Given the description of an element on the screen output the (x, y) to click on. 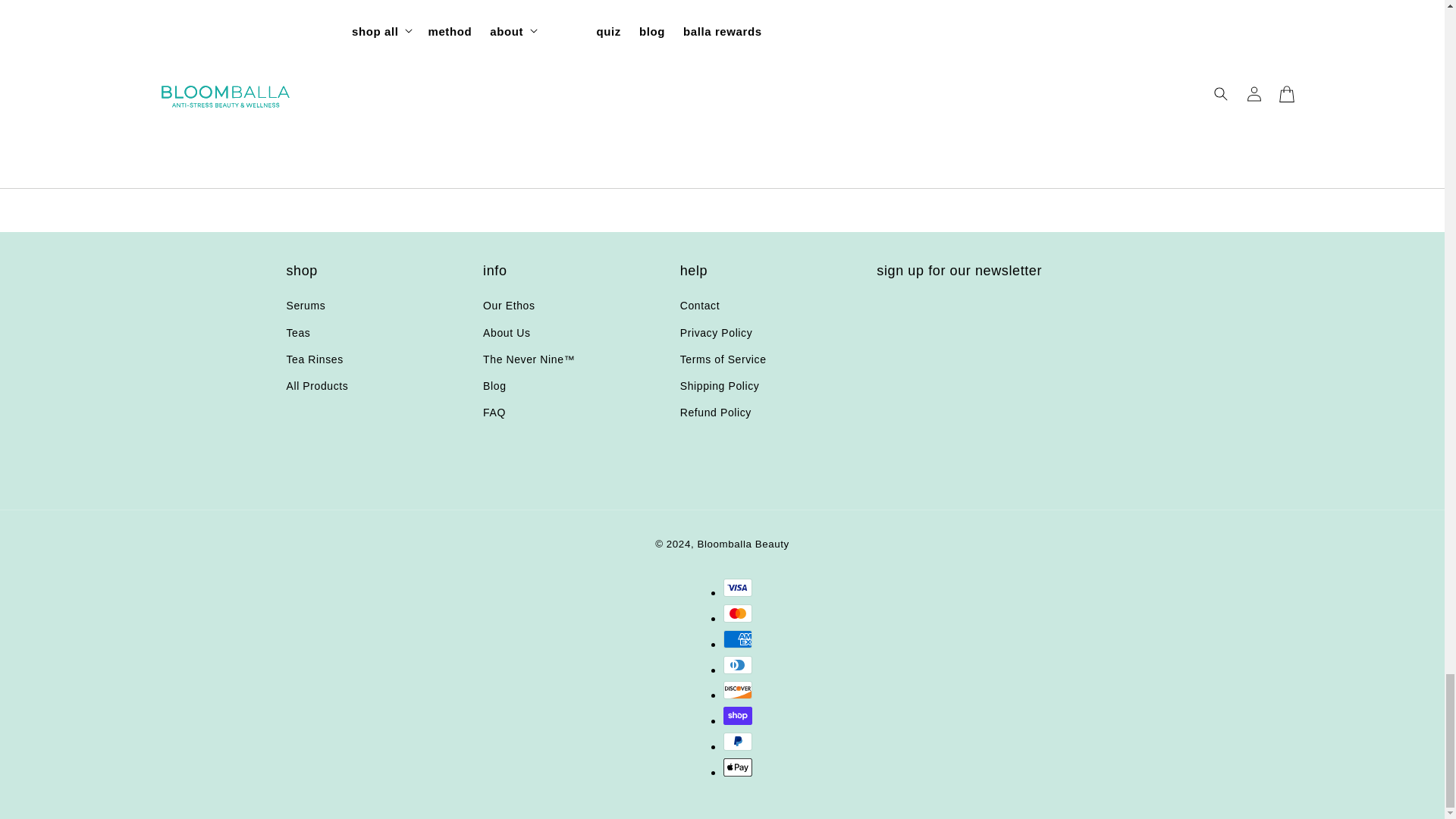
Apple Pay (737, 767)
PayPal (737, 741)
Shop Pay (737, 715)
Discover (737, 689)
Diners Club (737, 665)
Visa (737, 587)
American Express (737, 638)
Mastercard (737, 613)
